Given the description of an element on the screen output the (x, y) to click on. 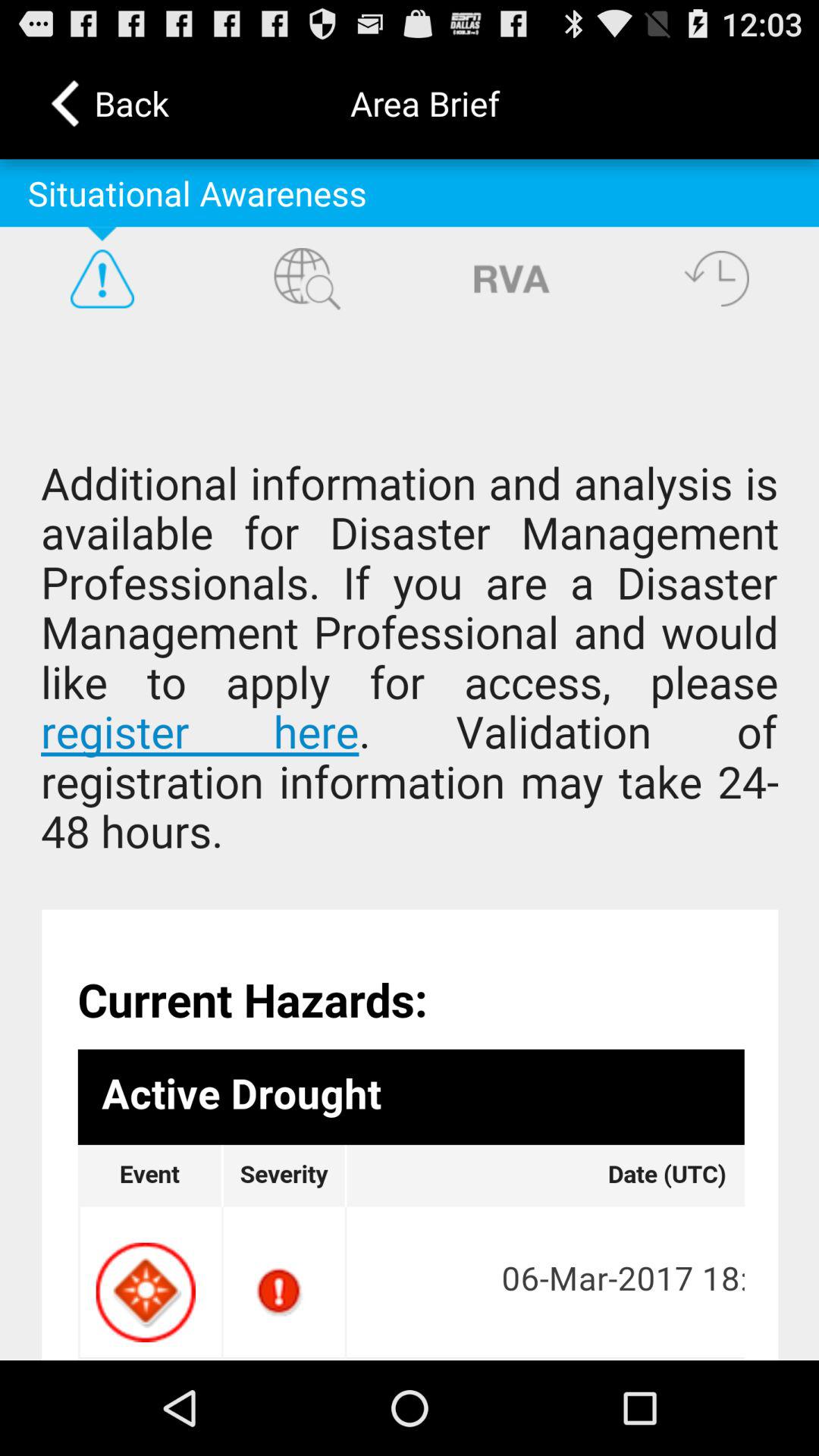
search engine (306, 278)
